Given the description of an element on the screen output the (x, y) to click on. 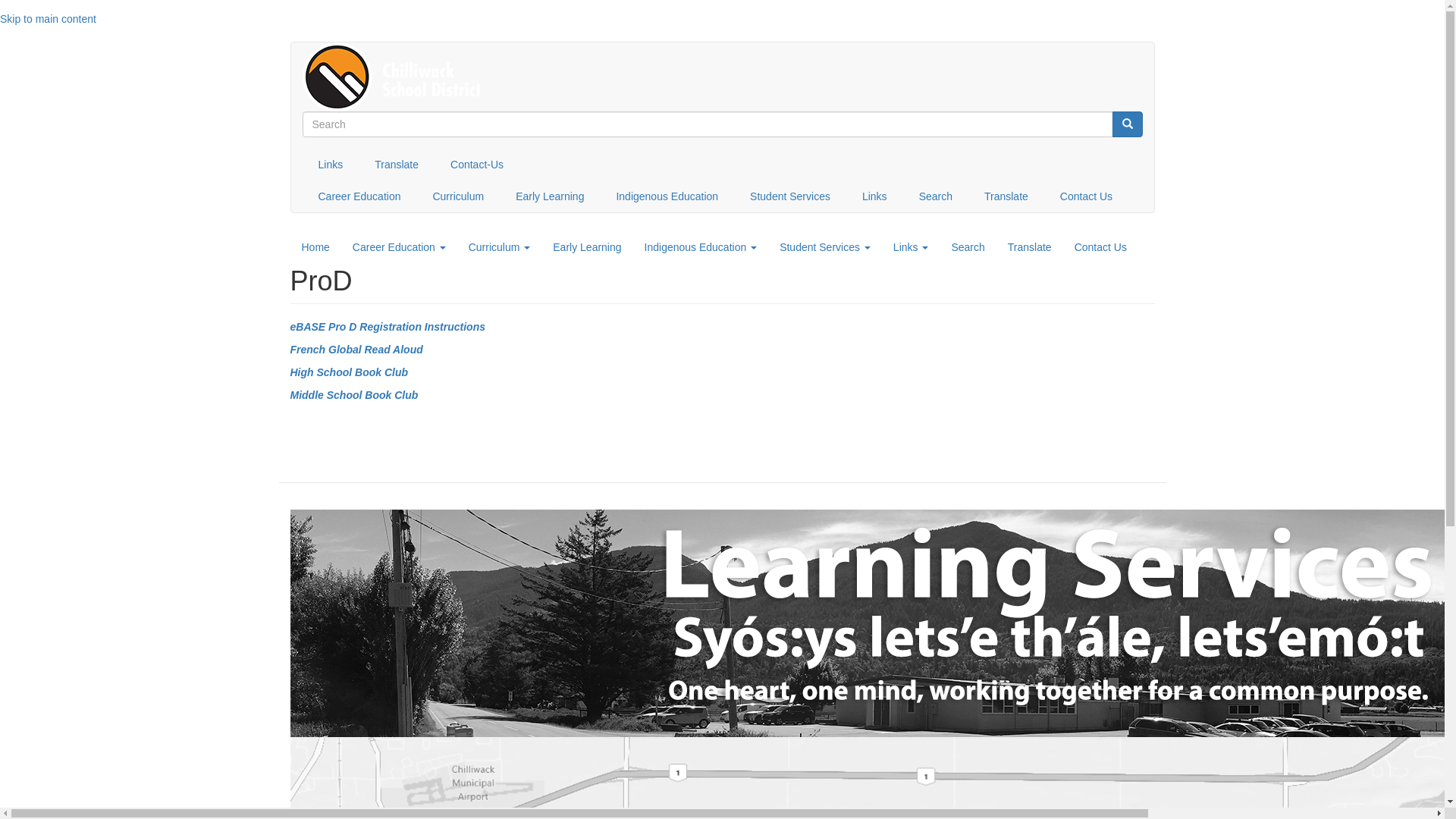
Curriculum Element type: text (457, 196)
Contact Us Element type: text (1086, 196)
Early Learning Element type: text (549, 196)
Career Education Element type: text (399, 247)
Home Element type: text (314, 247)
Contact-Us Element type: text (476, 164)
Translate Element type: text (396, 164)
Indigenous Education Element type: text (666, 196)
Career Education Element type: text (358, 196)
Links Element type: text (874, 196)
Early Learning Element type: text (586, 247)
Middle School Book Club Element type: text (353, 395)
Links Element type: text (910, 247)
Enter the terms you wish to search for. Element type: hover (706, 124)
Search Element type: text (1126, 124)
Skip to main content Element type: text (48, 18)
Student Services Element type: text (790, 196)
French Global Read Aloud Element type: text (355, 349)
Translate Element type: text (1006, 196)
Translate Element type: text (1029, 247)
Student Services Element type: text (824, 247)
eBASE Pro D Registration Instructions Element type: text (386, 326)
Curriculum Element type: text (499, 247)
Search Element type: text (967, 247)
High School Book Club Element type: text (348, 372)
Indigenous Education Element type: text (700, 247)
Links Element type: text (329, 164)
Contact Us Element type: text (1100, 247)
Search Element type: text (935, 196)
